Given the description of an element on the screen output the (x, y) to click on. 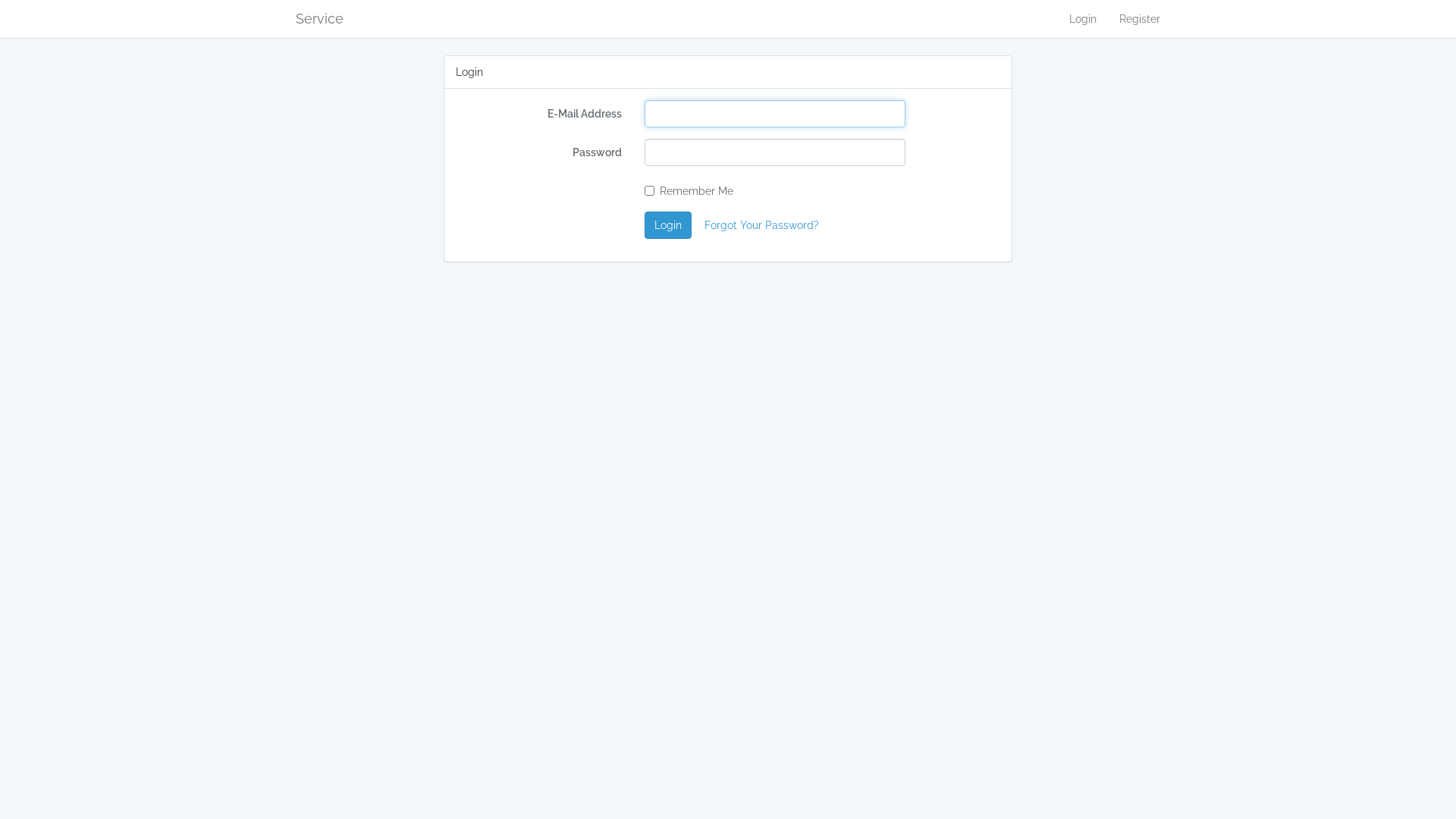
Forgot Your Password? Element type: text (761, 224)
Login Element type: text (667, 224)
Service Element type: text (319, 18)
Login Element type: text (1082, 18)
Register Element type: text (1139, 18)
